Given the description of an element on the screen output the (x, y) to click on. 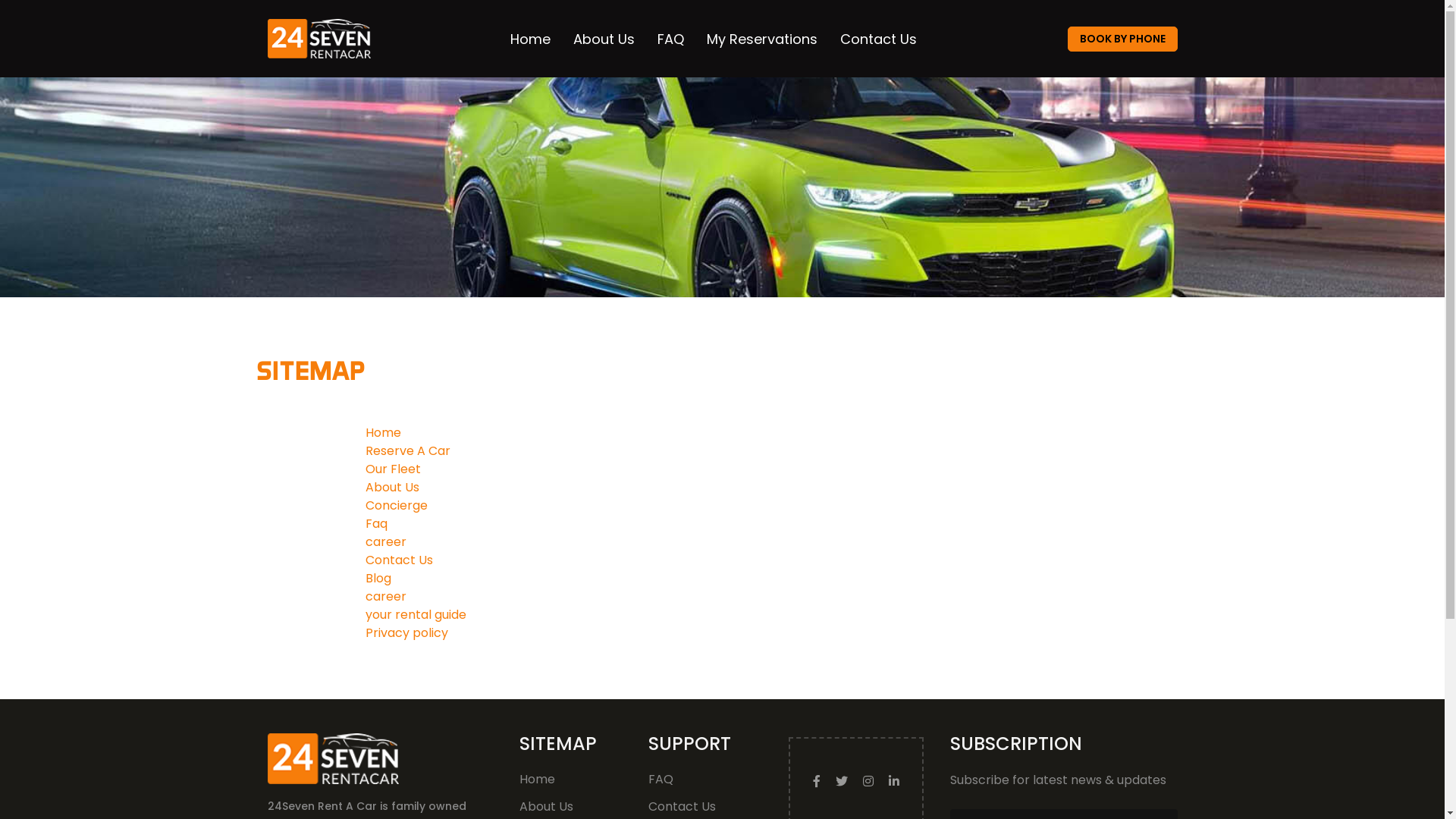
Home Element type: text (529, 38)
BOOK BY PHONE Element type: text (1122, 38)
Reserve A Car Element type: text (407, 450)
About Us Element type: text (545, 806)
About Us Element type: text (603, 38)
career Element type: text (385, 596)
Contact Us Element type: text (681, 806)
Concierge Element type: text (396, 505)
your rental guide Element type: text (415, 614)
career Element type: text (385, 541)
Privacy policy Element type: text (406, 632)
Home Element type: text (536, 778)
Home Element type: text (383, 432)
Our Fleet Element type: text (392, 468)
Contact Us Element type: text (399, 559)
Blog Element type: text (378, 577)
About Us Element type: text (392, 486)
Contact Us Element type: text (878, 38)
24Seven Rent A Car  Element type: hover (332, 758)
24 seven rent a car Element type: hover (318, 38)
Faq Element type: text (376, 523)
FAQ Element type: text (659, 778)
FAQ Element type: text (669, 38)
My Reservations Element type: text (761, 38)
